Given the description of an element on the screen output the (x, y) to click on. 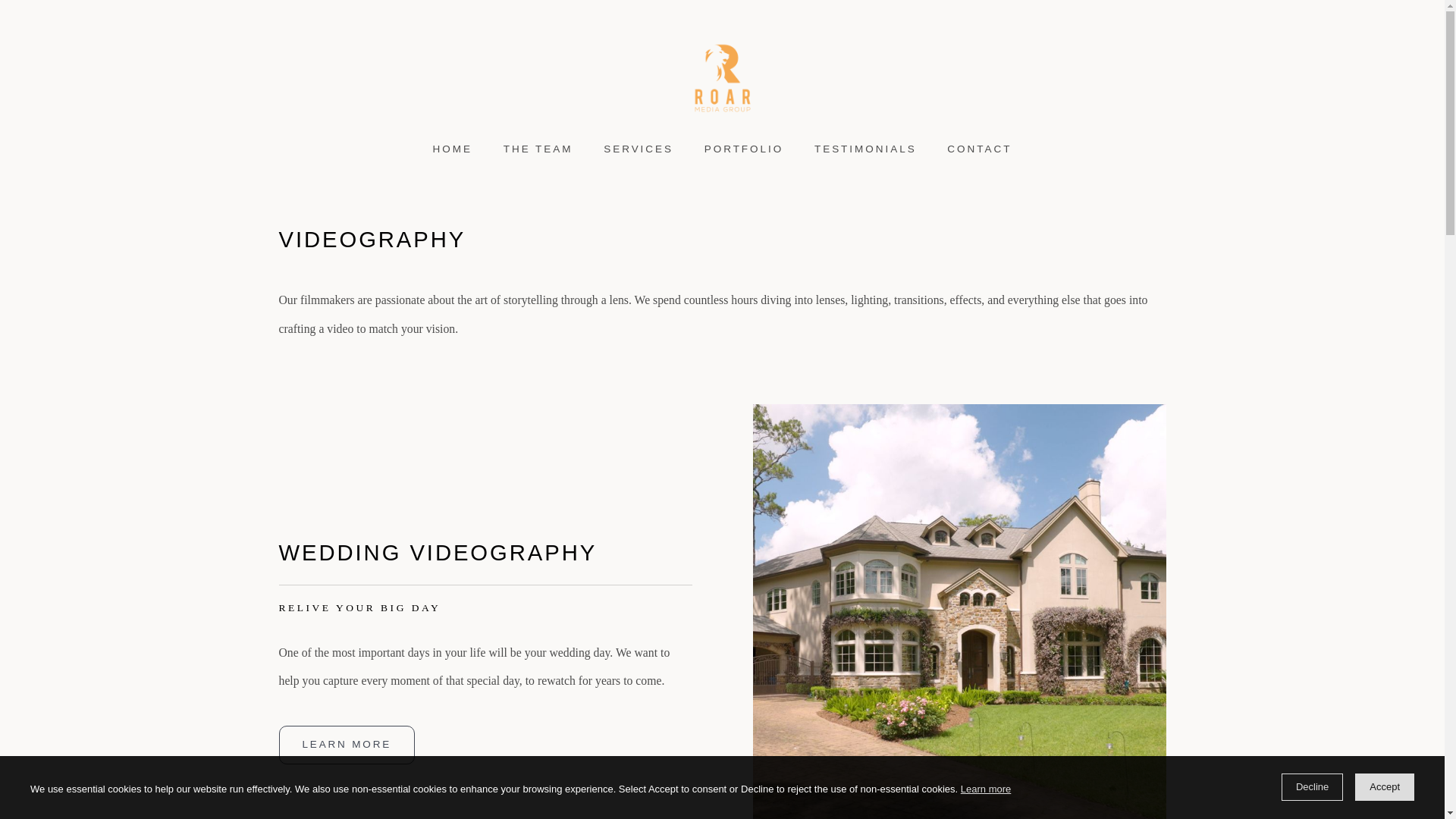
LEARN MORE (346, 744)
Decline (1311, 786)
CONTACT (979, 149)
TESTIMONIALS (865, 149)
HOME (451, 149)
PORTFOLIO (743, 149)
Accept (1384, 786)
THE TEAM (538, 149)
SERVICES (638, 149)
Learn more (985, 788)
